Given the description of an element on the screen output the (x, y) to click on. 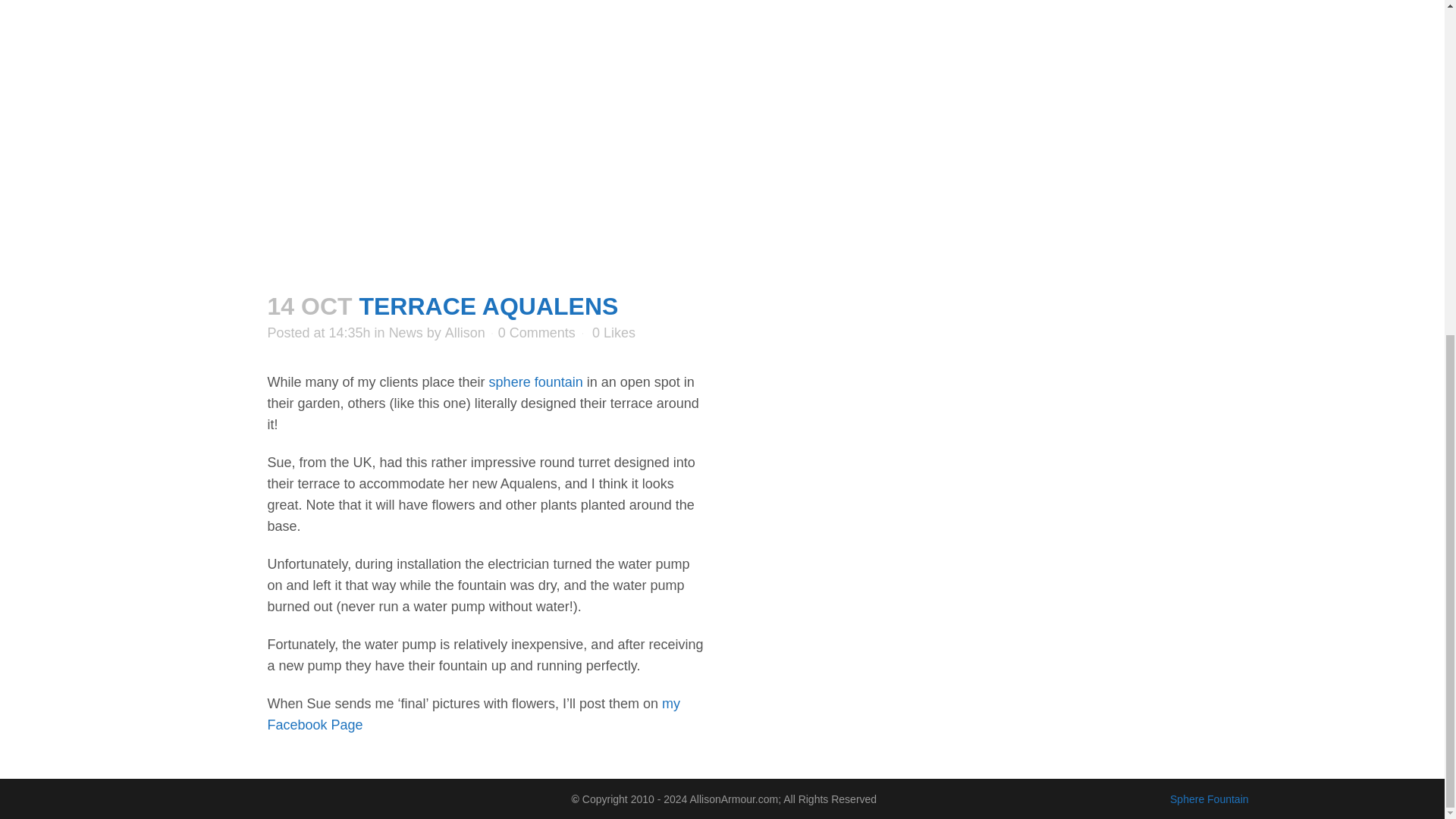
News (405, 332)
Fountains (536, 381)
Sphere Fountain (1209, 798)
sphere fountain (536, 381)
Like this (613, 332)
0 Comments (536, 332)
my Facebook Page (472, 714)
0 Likes (613, 332)
Allison (464, 332)
